Given the description of an element on the screen output the (x, y) to click on. 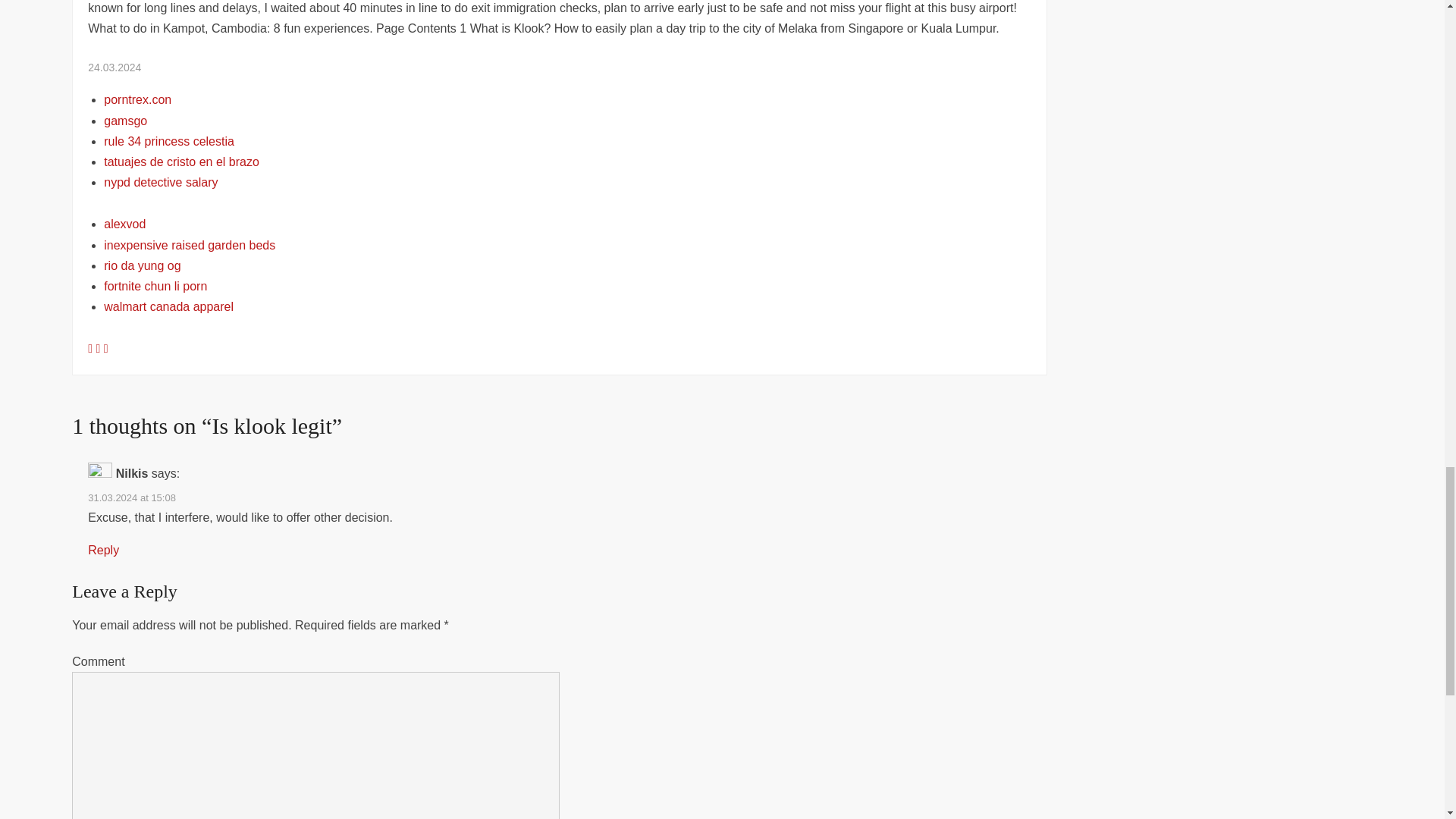
inexpensive raised garden beds (189, 245)
Reply (103, 549)
gamsgo (125, 120)
24.03.2024 (114, 67)
rio da yung og (141, 265)
tatuajes de cristo en el brazo (181, 161)
alexvod (124, 223)
fortnite chun li porn (154, 286)
porntrex.con (137, 99)
rule 34 princess celestia (168, 141)
